Given the description of an element on the screen output the (x, y) to click on. 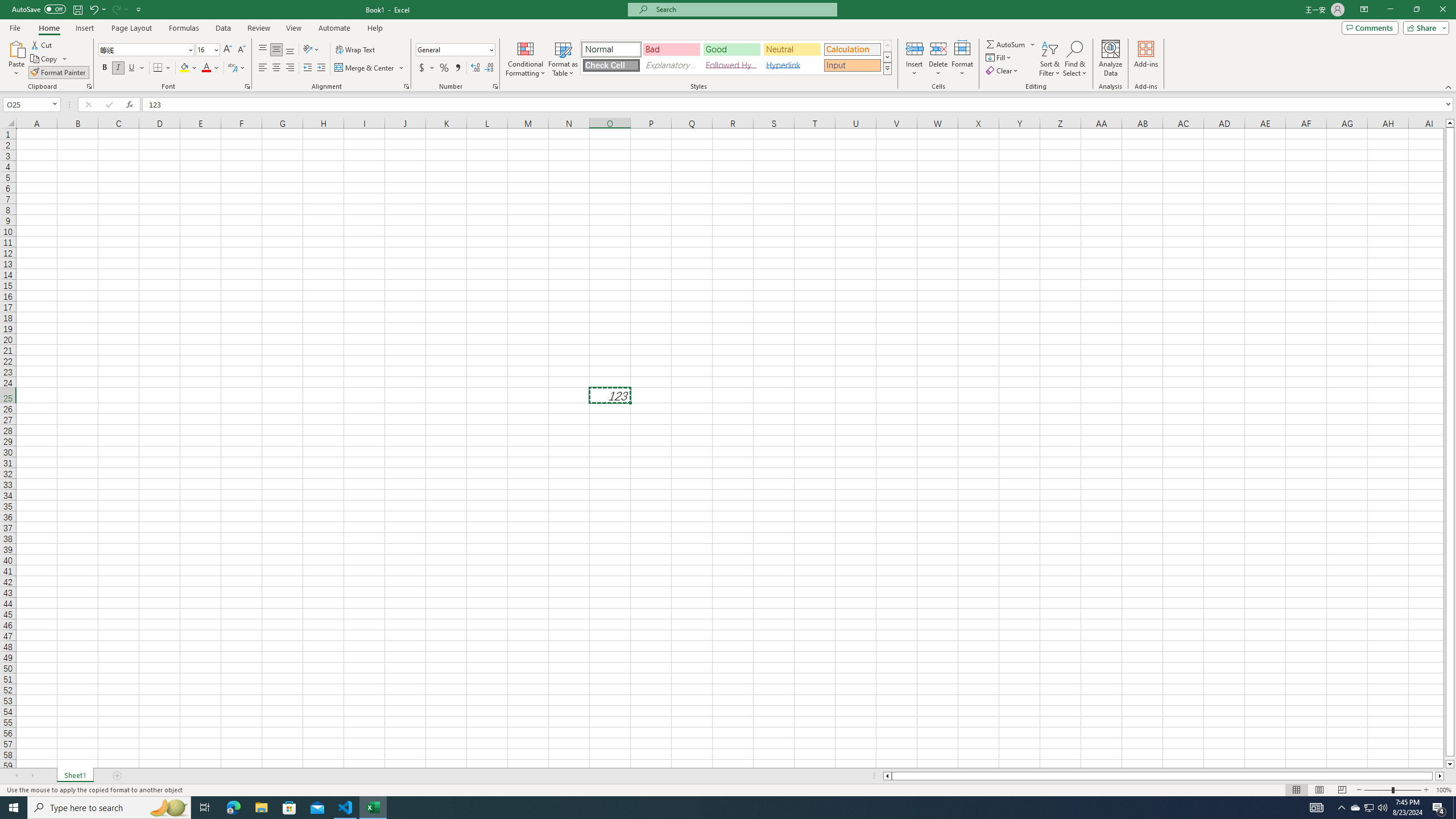
Orientation (311, 49)
Formula Bar (799, 104)
Paste (16, 48)
Explanatory Text (671, 65)
Help (374, 28)
Bottom Align (290, 49)
Font (147, 49)
Format Cell Number (494, 85)
Insert (83, 28)
Page down (1449, 758)
Class: MsoCommandBar (728, 45)
Align Right (290, 67)
Add Sheet (117, 775)
Percent Style (443, 67)
